Given the description of an element on the screen output the (x, y) to click on. 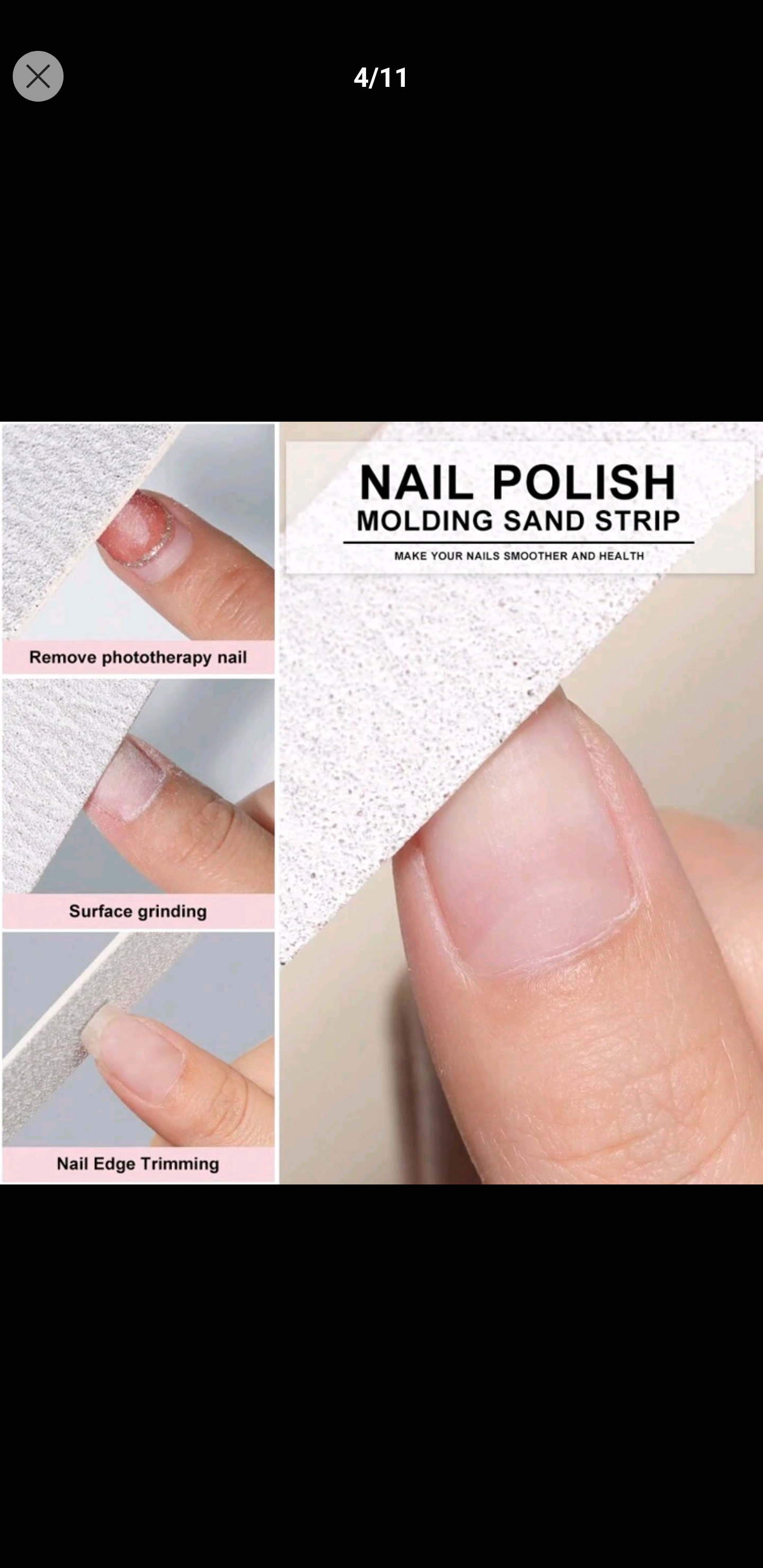
BACK (38, 75)
